Given the description of an element on the screen output the (x, y) to click on. 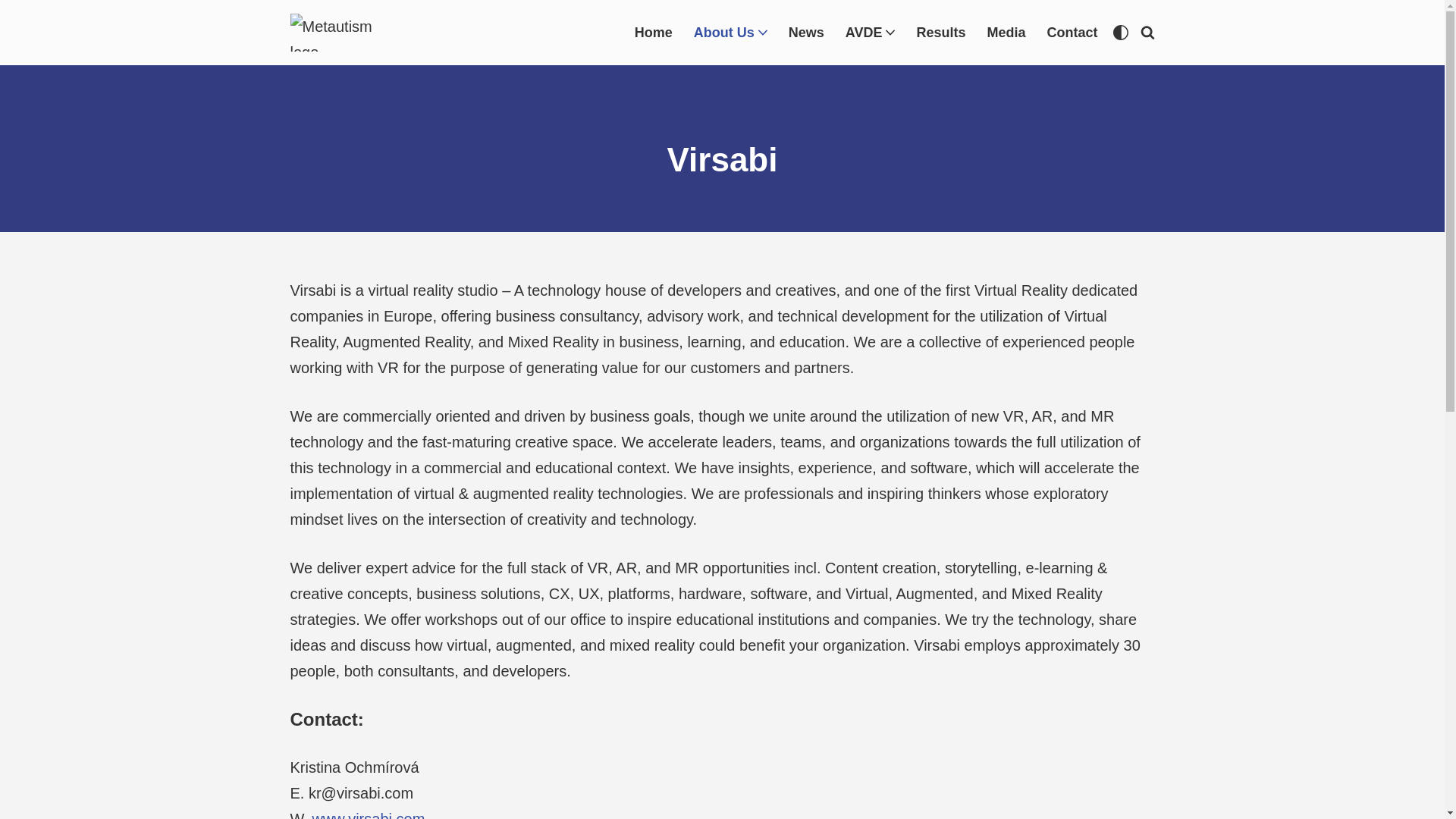
Media (1006, 32)
AVDE (863, 32)
Navigation Menu (1418, 18)
News (806, 32)
Contact (1071, 32)
Skip to content (11, 31)
Home (653, 32)
About Us (724, 32)
Results (940, 32)
